Given the description of an element on the screen output the (x, y) to click on. 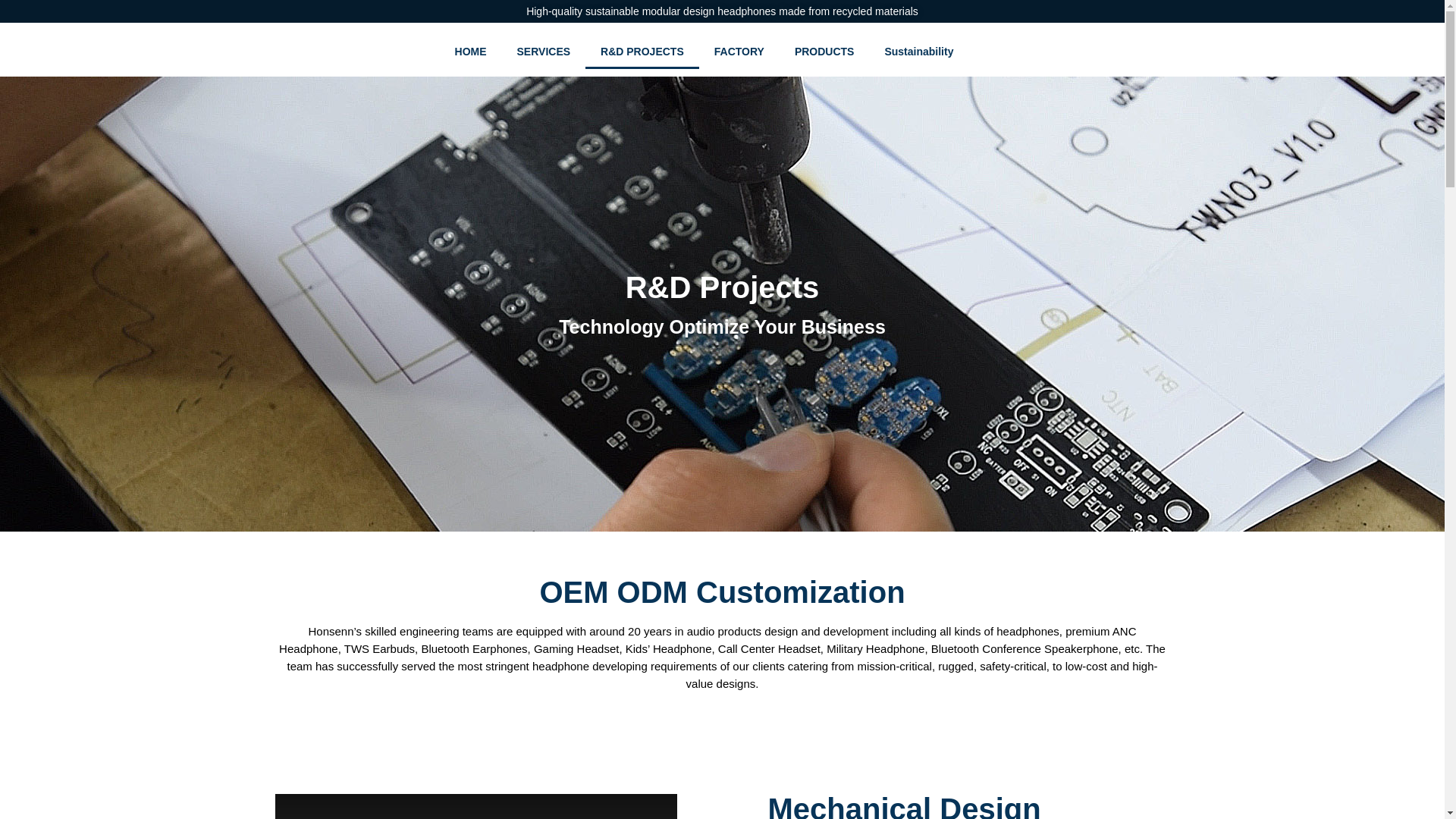
FACTORY (738, 51)
PRODUCTS (823, 51)
Sustainability (918, 51)
SERVICES (544, 51)
HOME (470, 51)
